Given the description of an element on the screen output the (x, y) to click on. 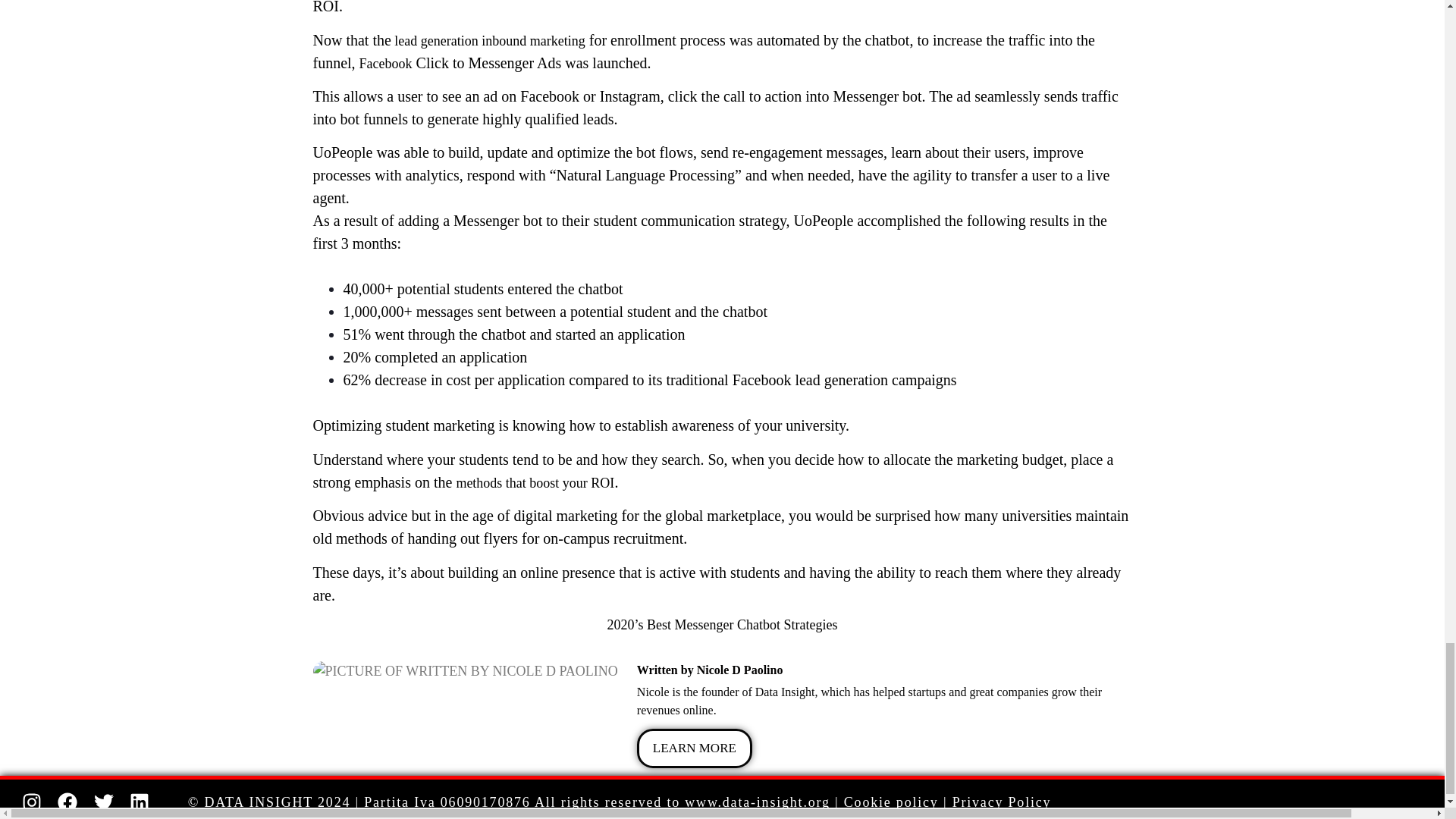
lead generation inbound marketing (488, 40)
LEARN MORE (694, 748)
Written by Nicole D Paolino (884, 669)
Facebook (385, 63)
2021 Best Facebook Messenger Chatbot Lead Generation Hacks 5 (465, 670)
methods that boost your ROI (534, 482)
